Given the description of an element on the screen output the (x, y) to click on. 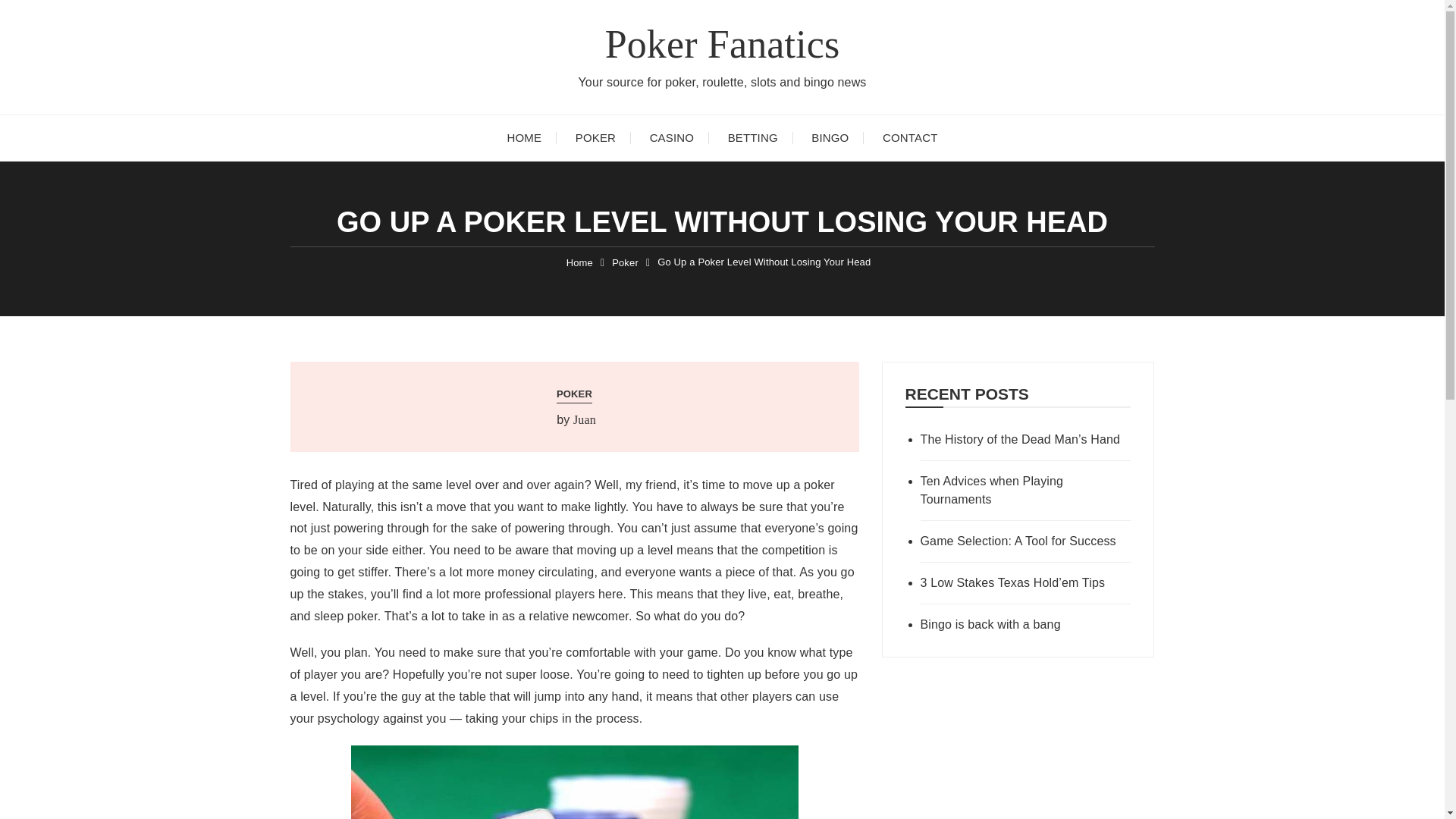
CONTACT (909, 137)
HOME (524, 137)
Poker (625, 263)
Home (579, 263)
CASINO (671, 137)
Ten Advices when Playing Tournaments (1025, 490)
POKER (595, 137)
POKER (574, 394)
Go Up a Poker Level Without Losing Your Head (764, 262)
Bingo is back with a bang (1025, 624)
Poker Fanatics (722, 44)
Game Selection: A Tool for Success (1025, 541)
BINGO (829, 137)
BETTING (753, 137)
Juan (584, 420)
